Given the description of an element on the screen output the (x, y) to click on. 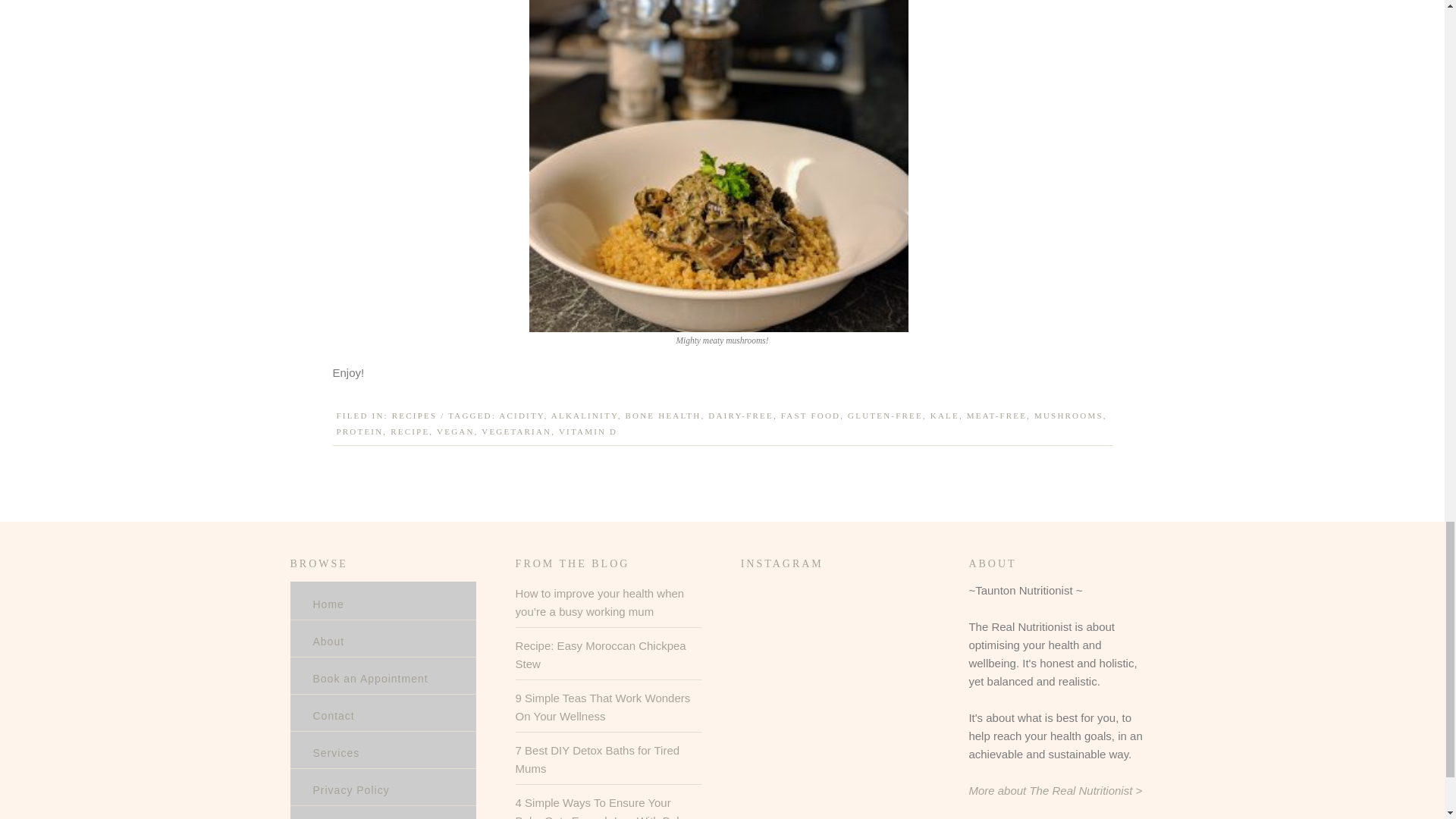
ALKALINITY (584, 415)
VITAMIN D (588, 430)
BONE HEALTH (663, 415)
MEAT-FREE (996, 415)
GLUTEN-FREE (885, 415)
DAIRY-FREE (740, 415)
VEGETARIAN (516, 430)
RECIPE (409, 430)
About (328, 641)
RECIPES (413, 415)
